Given the description of an element on the screen output the (x, y) to click on. 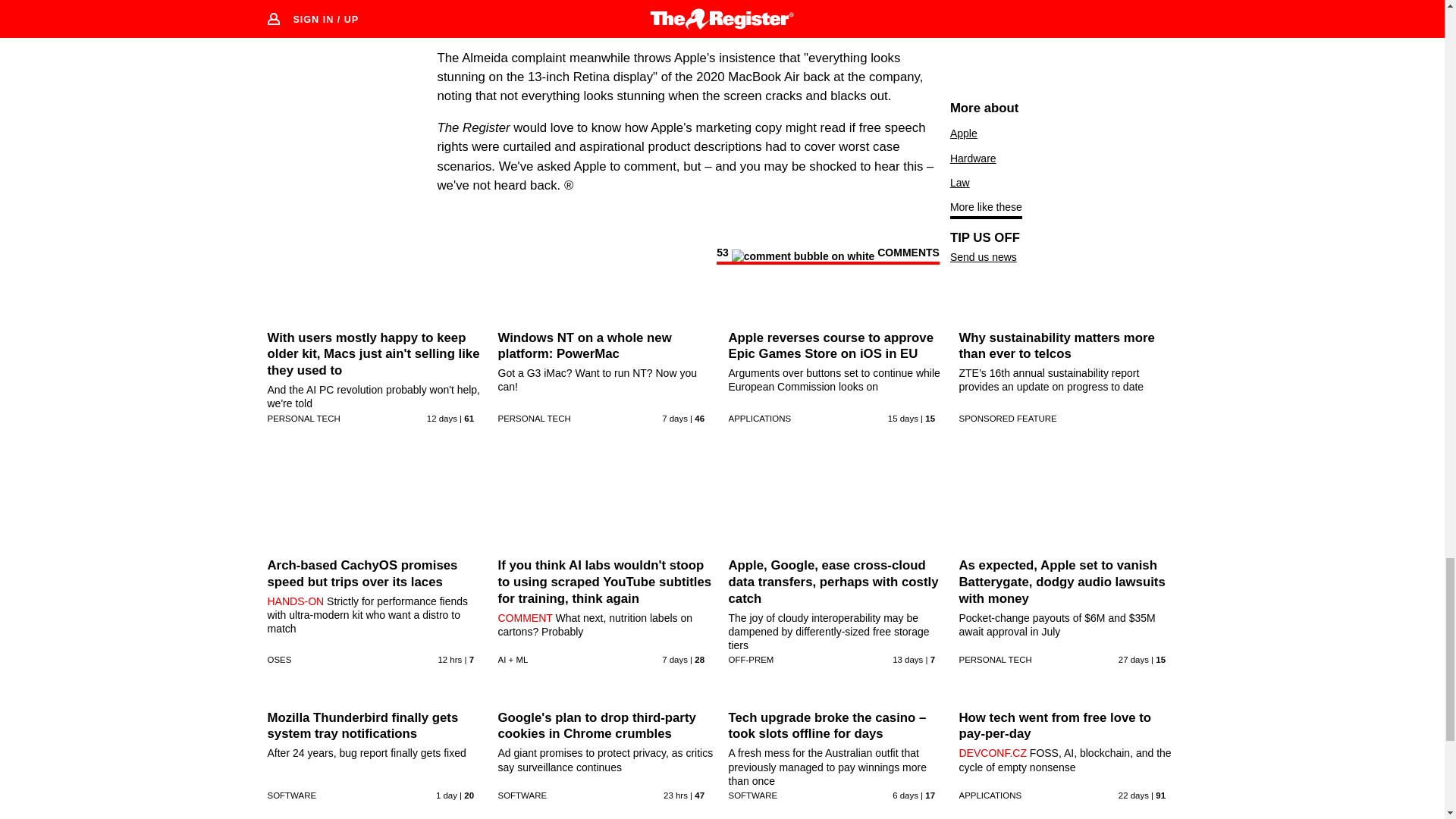
23 Jul 2024 11:27 (449, 659)
17 Jul 2024 1:42 (674, 659)
17 Jul 2024 8:34 (674, 418)
8 Jul 2024 17:4 (903, 418)
11 Jul 2024 4:34 (907, 659)
View comments on this article (827, 255)
11 Jul 2024 18:4 (441, 418)
